Given the description of an element on the screen output the (x, y) to click on. 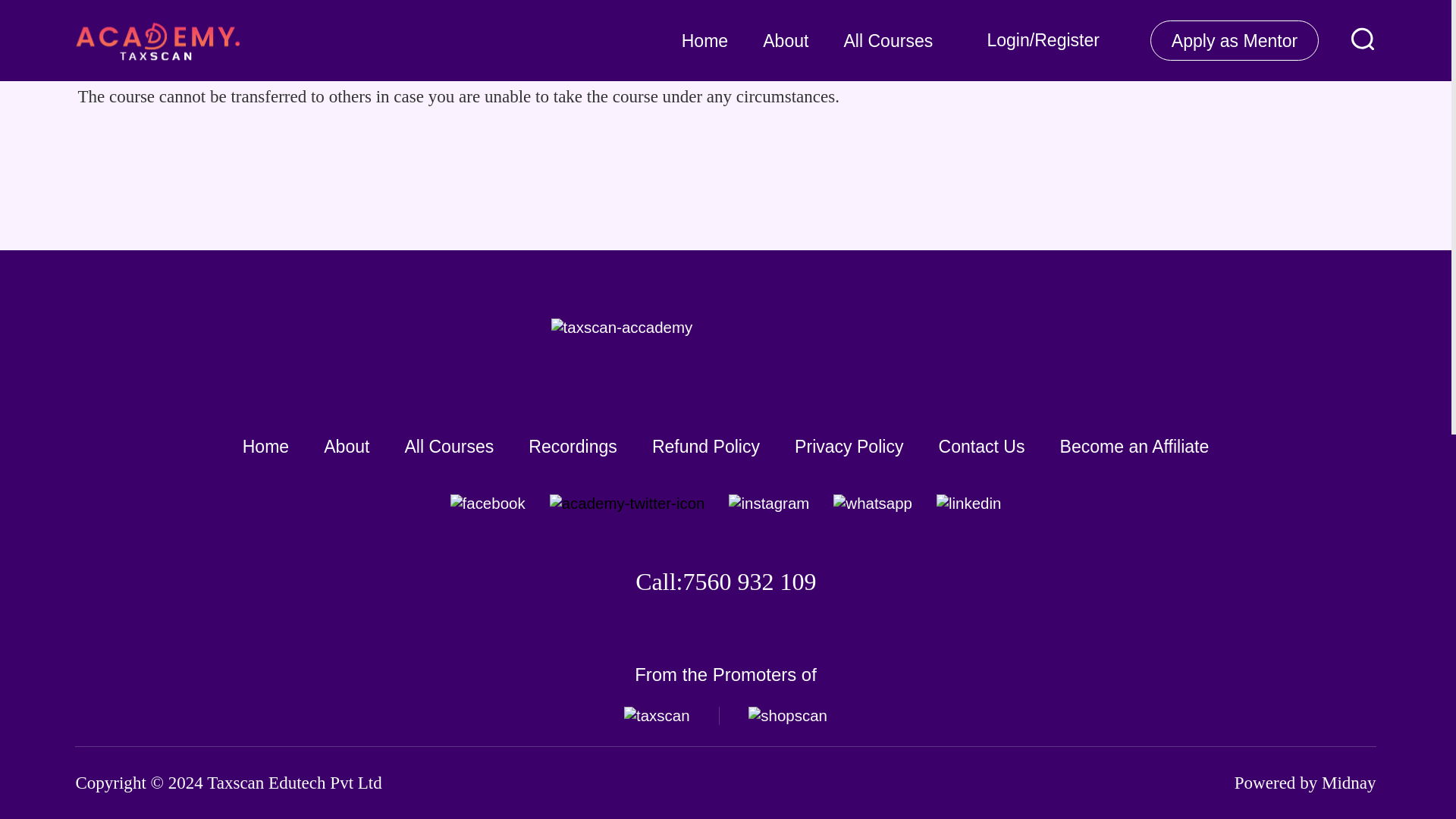
Privacy Policy (848, 446)
Become an Affiliate (1134, 446)
Midnay (1348, 782)
Home (265, 446)
About (346, 446)
All Courses (448, 446)
Refund Policy (706, 446)
Call:7560 932 109 (724, 581)
Contact Us (982, 446)
Recordings (572, 446)
Taxscan Edutech (265, 782)
